Given the description of an element on the screen output the (x, y) to click on. 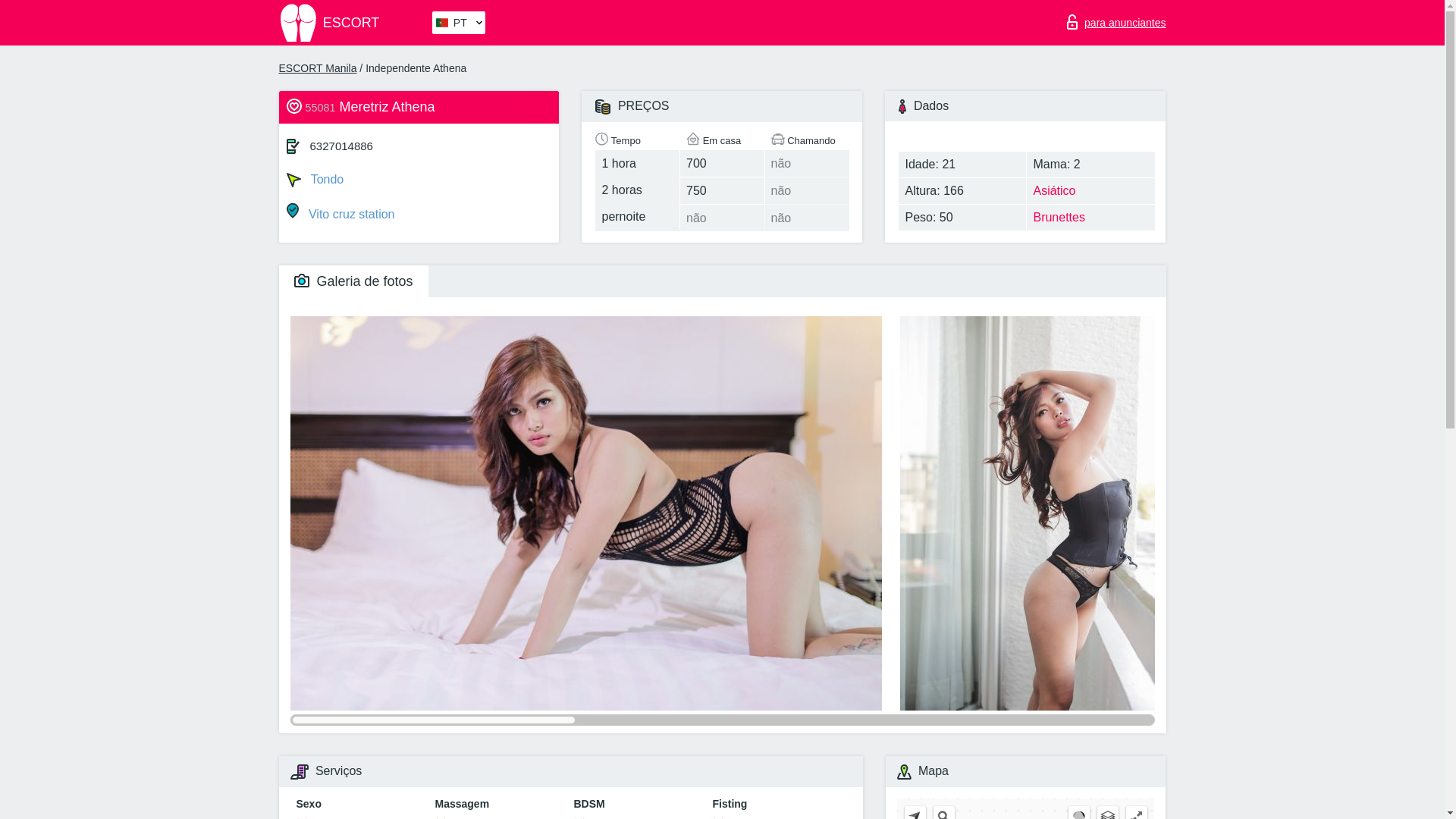
Vito cruz station (418, 212)
ESCORT Manila (317, 68)
Search (943, 812)
ESCORT (354, 22)
Detect your current location (914, 812)
Galeria de fotos (353, 281)
Massagem profissional (494, 817)
6327014886 (341, 145)
Tondo (418, 177)
para anunciantes (1116, 17)
